Given the description of an element on the screen output the (x, y) to click on. 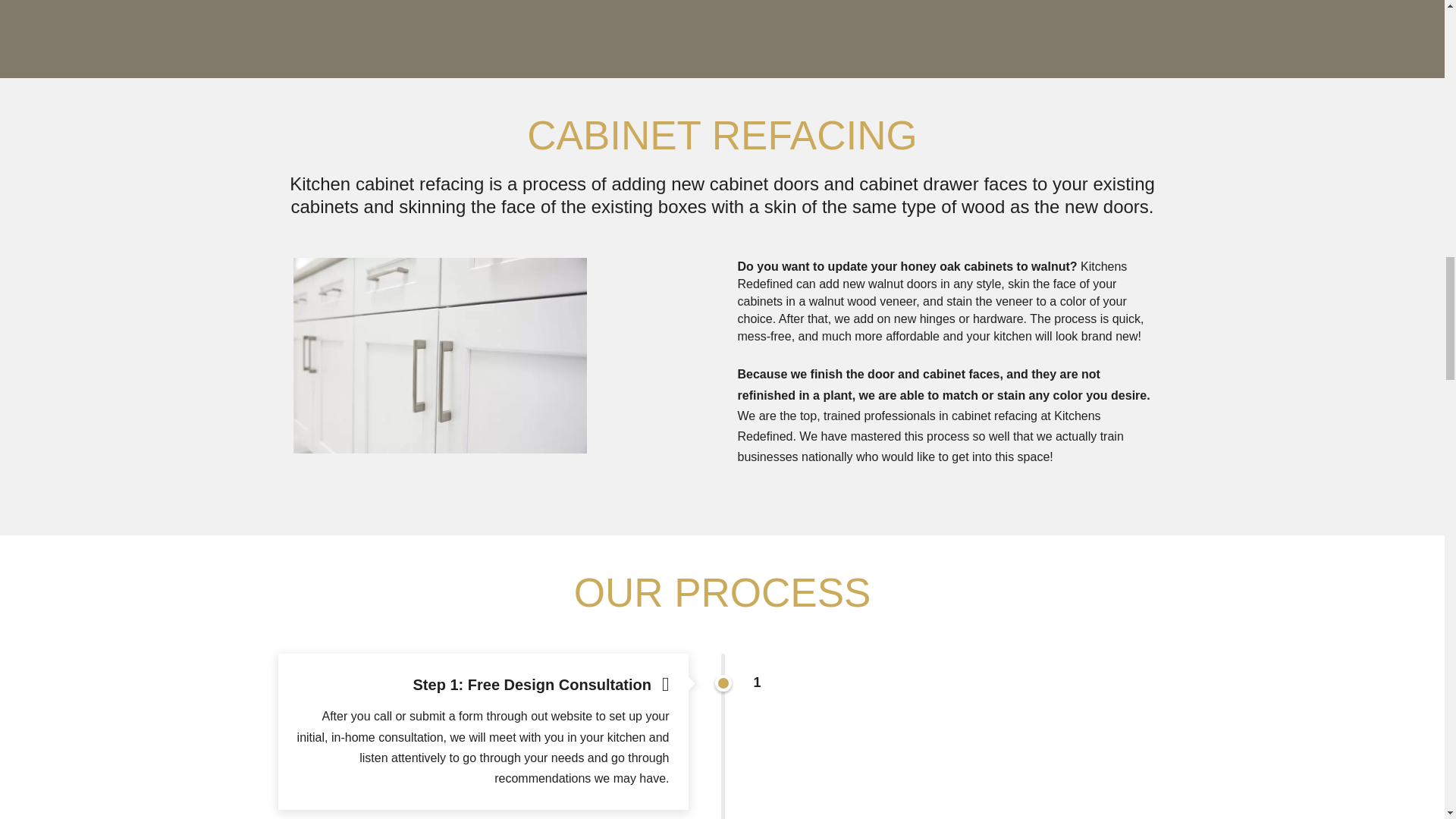
YouTube video player (488, 12)
